Given the description of an element on the screen output the (x, y) to click on. 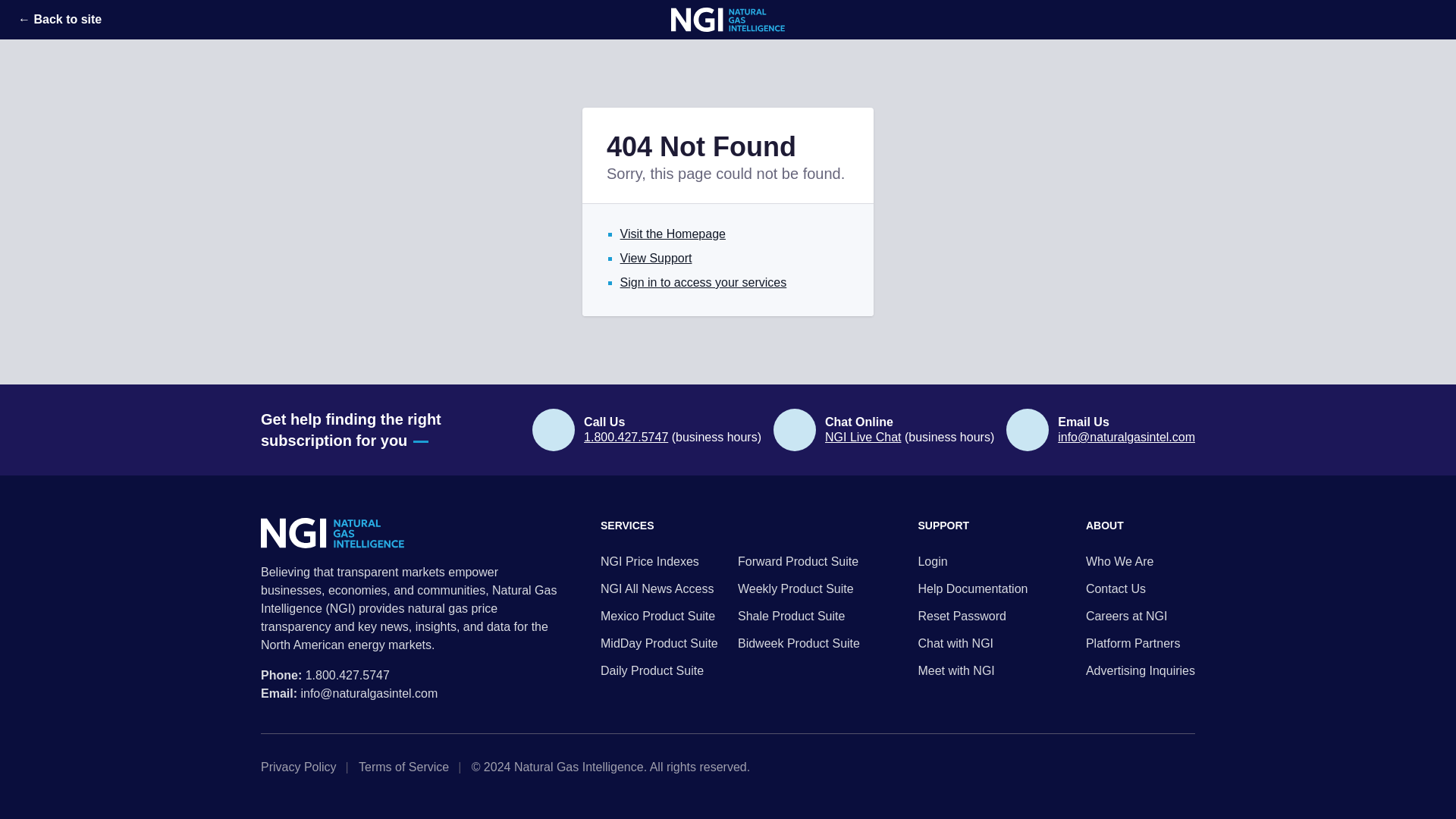
Contact Us (1140, 588)
Sign in to access your services (703, 282)
X (1140, 766)
Shale Product Suite (799, 616)
Login (972, 561)
Who We Are (1140, 561)
1.800.427.5747 (347, 675)
LinkedIn (1164, 766)
NGI Price Indexes (660, 561)
Meet with NGI (972, 670)
